Given the description of an element on the screen output the (x, y) to click on. 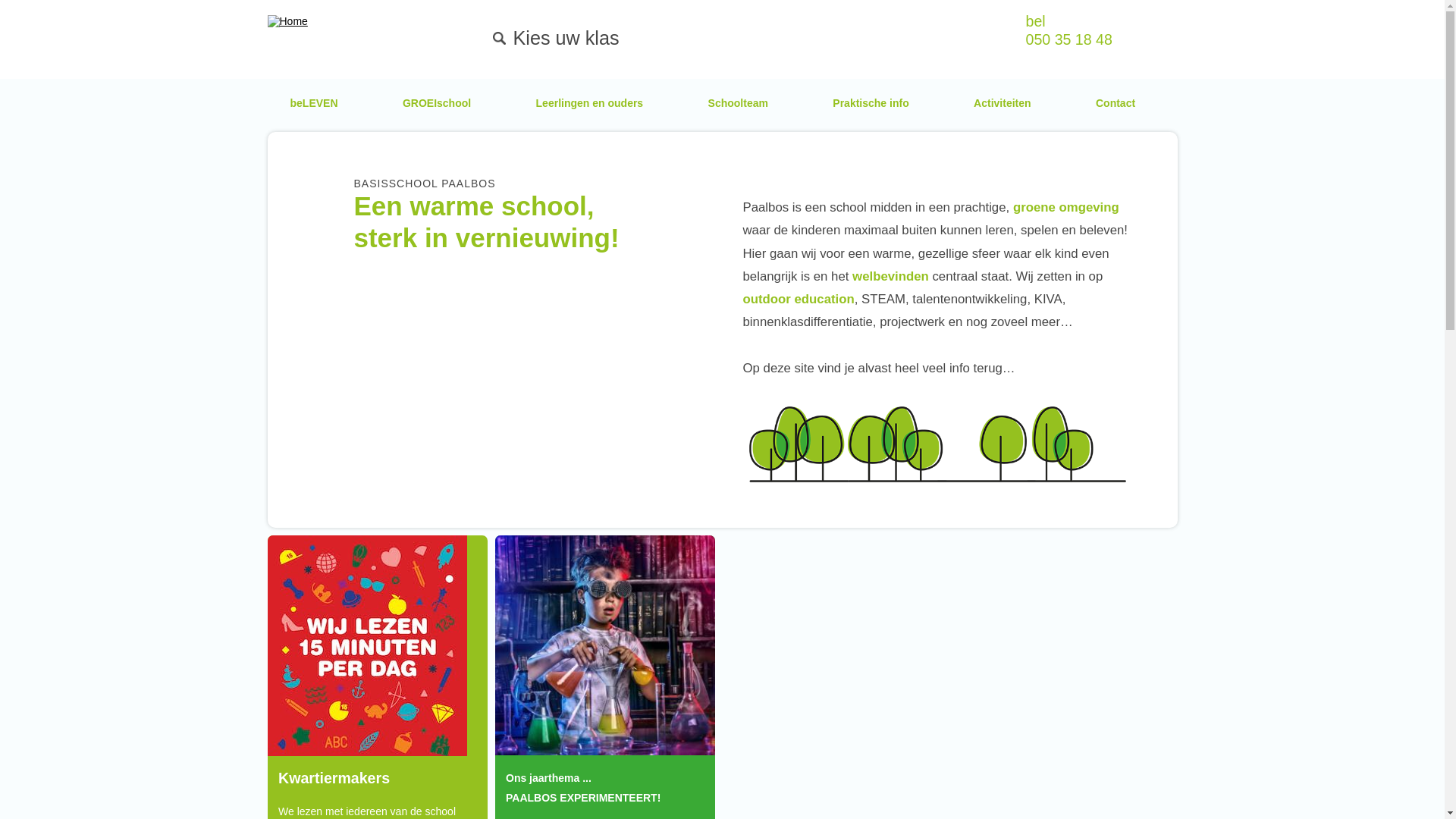
Overslaan en naar de inhoud gaan Element type: text (0, 7)
Kwartiermakers. Element type: hover (366, 645)
Paalbos experimenteert. Element type: hover (604, 645)
Schoolteam Element type: text (737, 105)
050 35 18 48 Element type: text (1068, 39)
Activiteiten Element type: text (1001, 105)
Contact Element type: text (1115, 105)
